Given the description of an element on the screen output the (x, y) to click on. 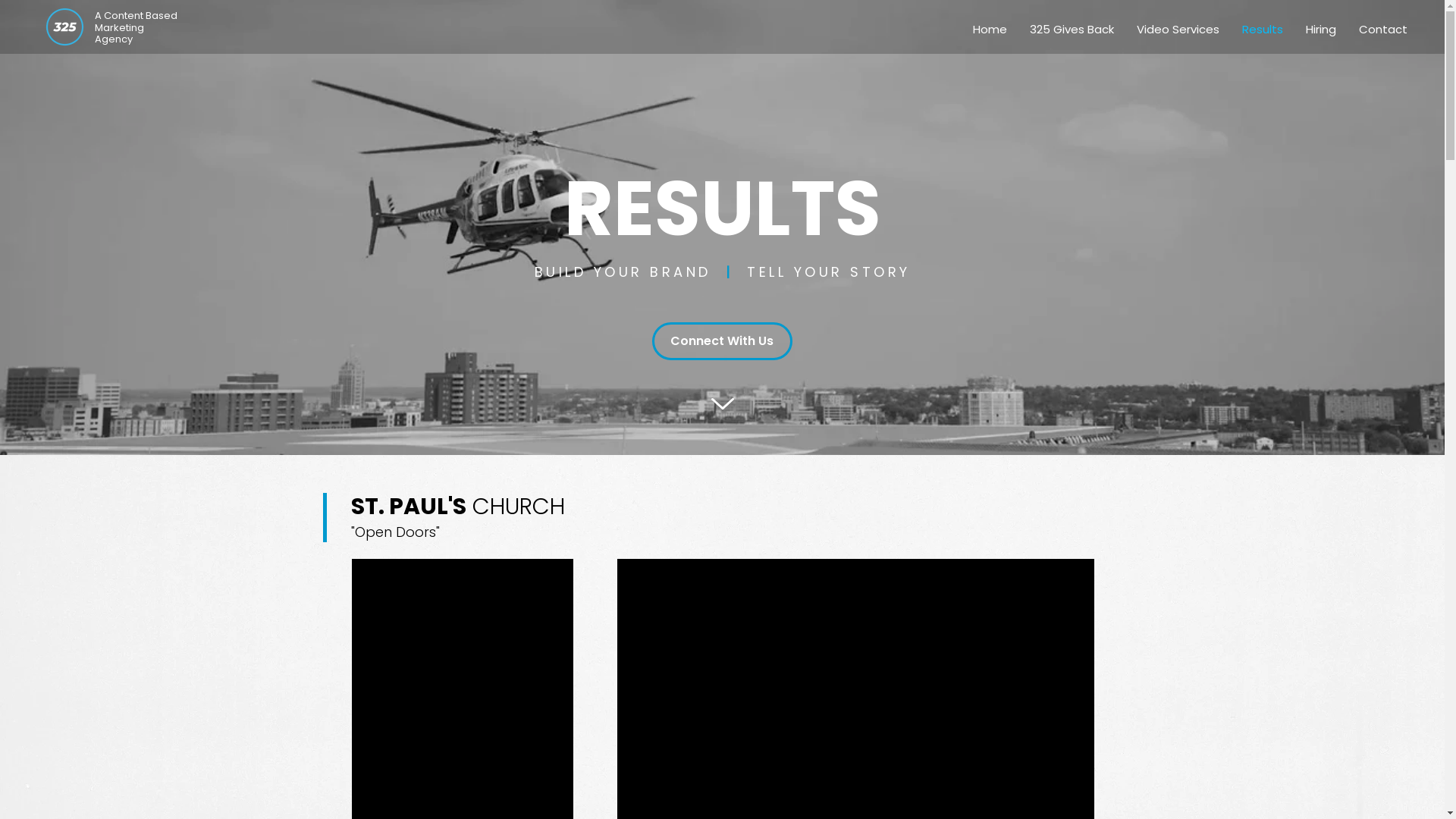
325 circle logo.png Element type: hover (64, 26)
Contact Element type: text (1382, 29)
Hiring Element type: text (1320, 29)
325 Gives Back Element type: text (1071, 29)
Home Element type: text (989, 29)
Results Element type: text (1262, 29)
Connect With Us Element type: text (722, 341)
Video Services Element type: text (1177, 29)
